Given the description of an element on the screen output the (x, y) to click on. 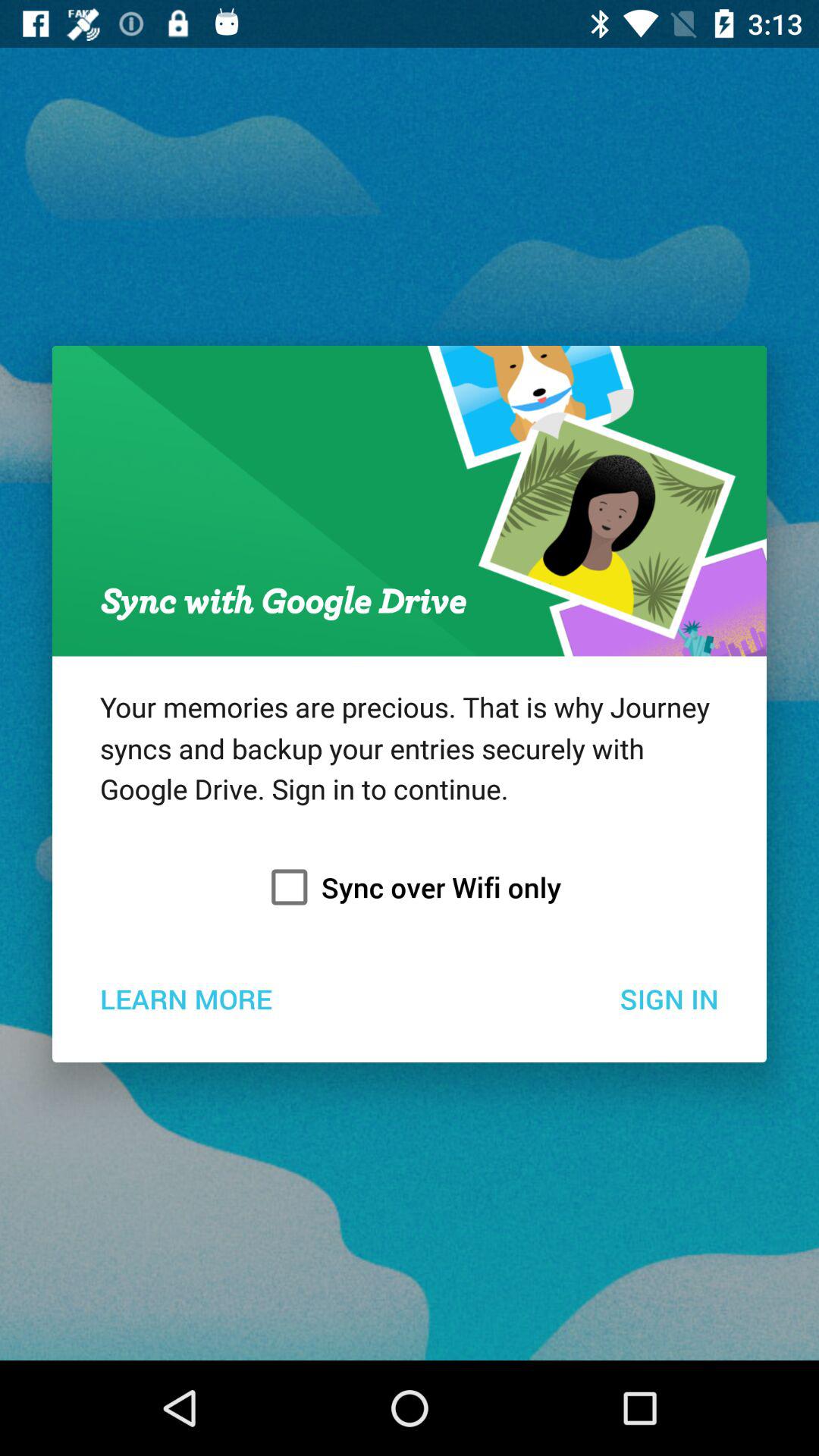
press the item to the left of the sign in (185, 998)
